Given the description of an element on the screen output the (x, y) to click on. 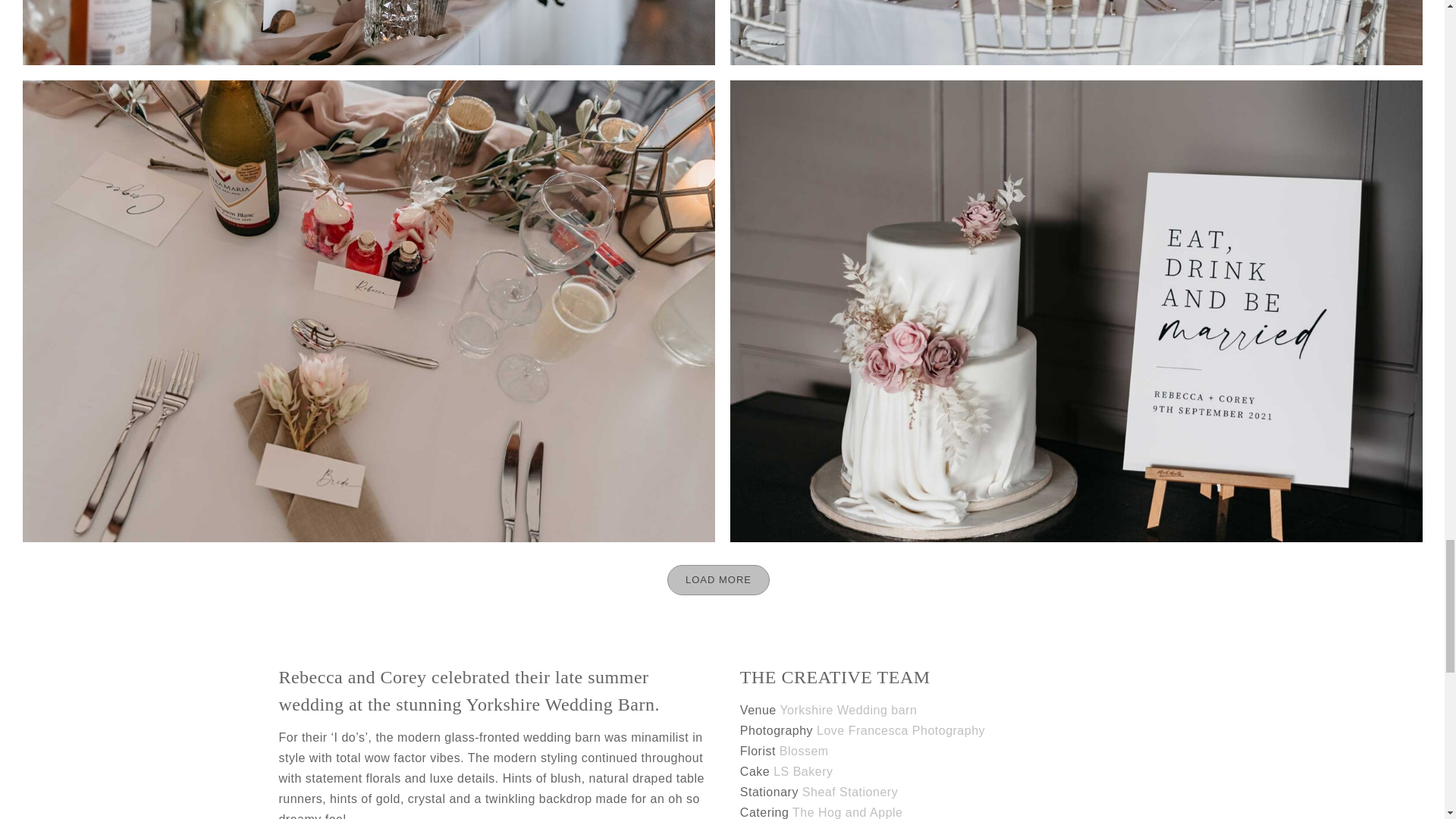
modern elegant wedding top table (368, 32)
modern elegant wedding table (1076, 32)
